Given the description of an element on the screen output the (x, y) to click on. 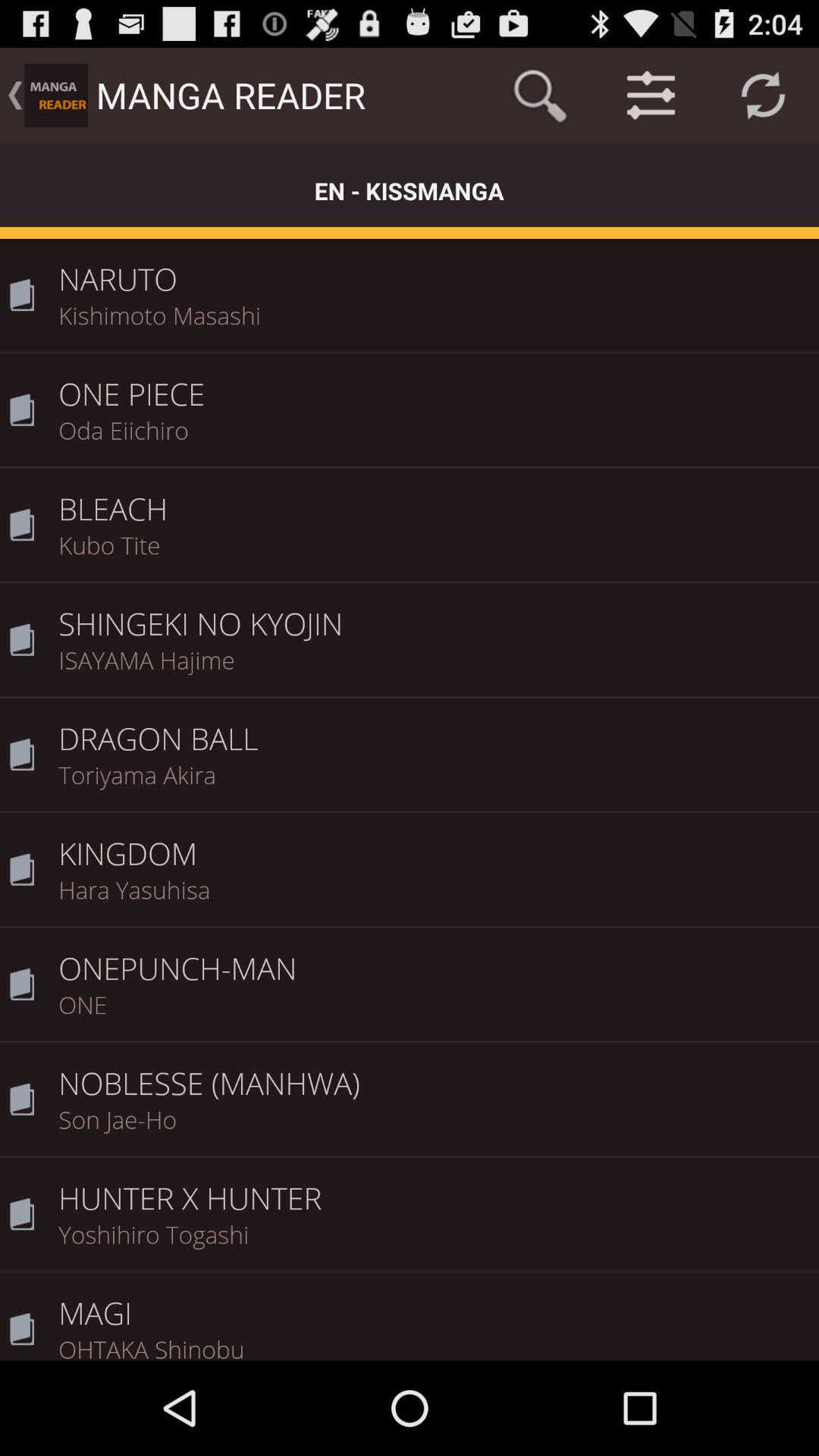
launch the icon below the kishimoto masashi (433, 383)
